Given the description of an element on the screen output the (x, y) to click on. 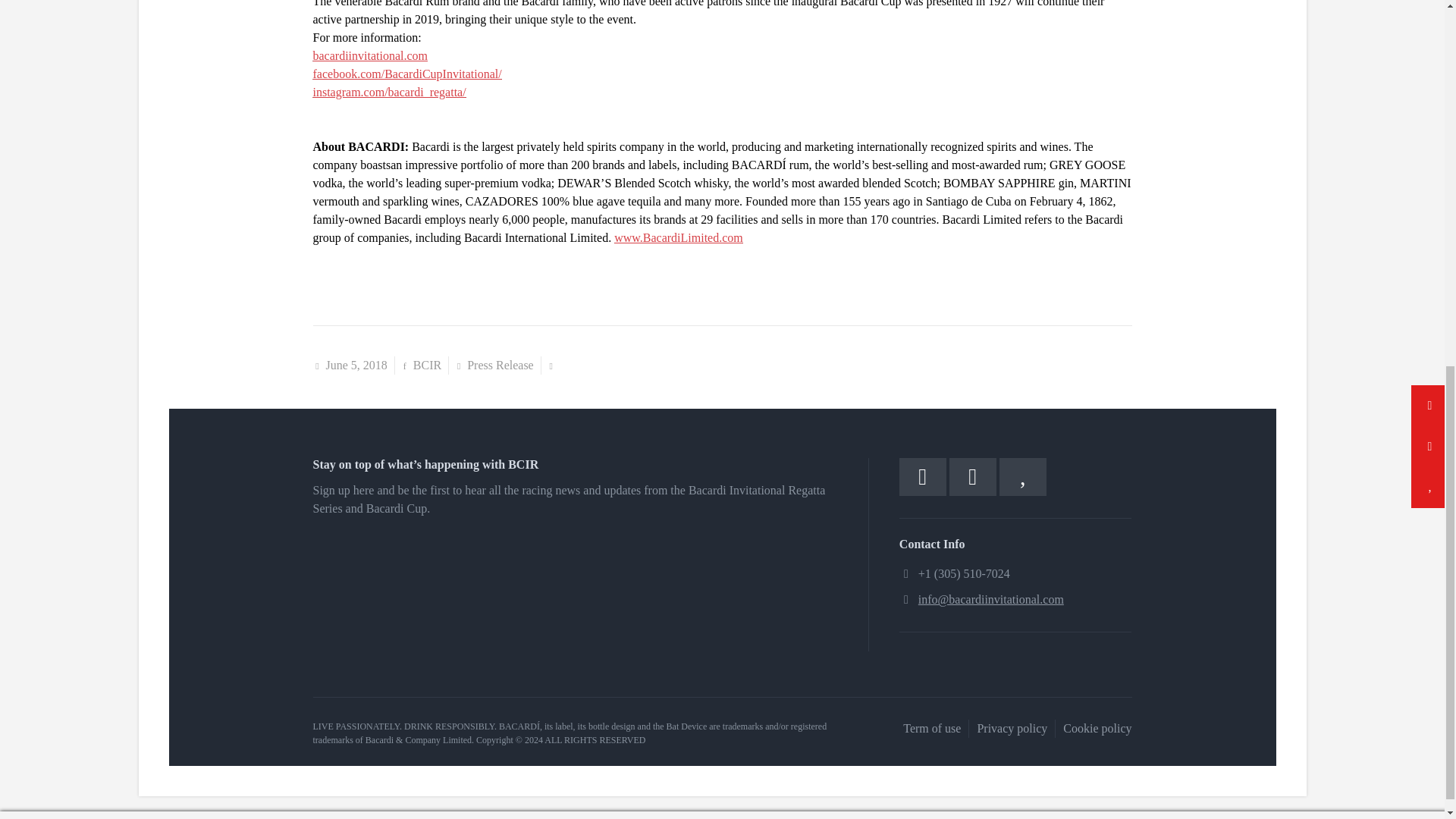
YouTube (1022, 476)
www.BacardiLimited.com (678, 237)
Facebook (922, 476)
Instagram (972, 476)
June 5, 2018 (356, 364)
bacardiinvitational.com (370, 55)
Posts by BCIR (427, 364)
BCIR (427, 364)
Press Release (500, 364)
